Given the description of an element on the screen output the (x, y) to click on. 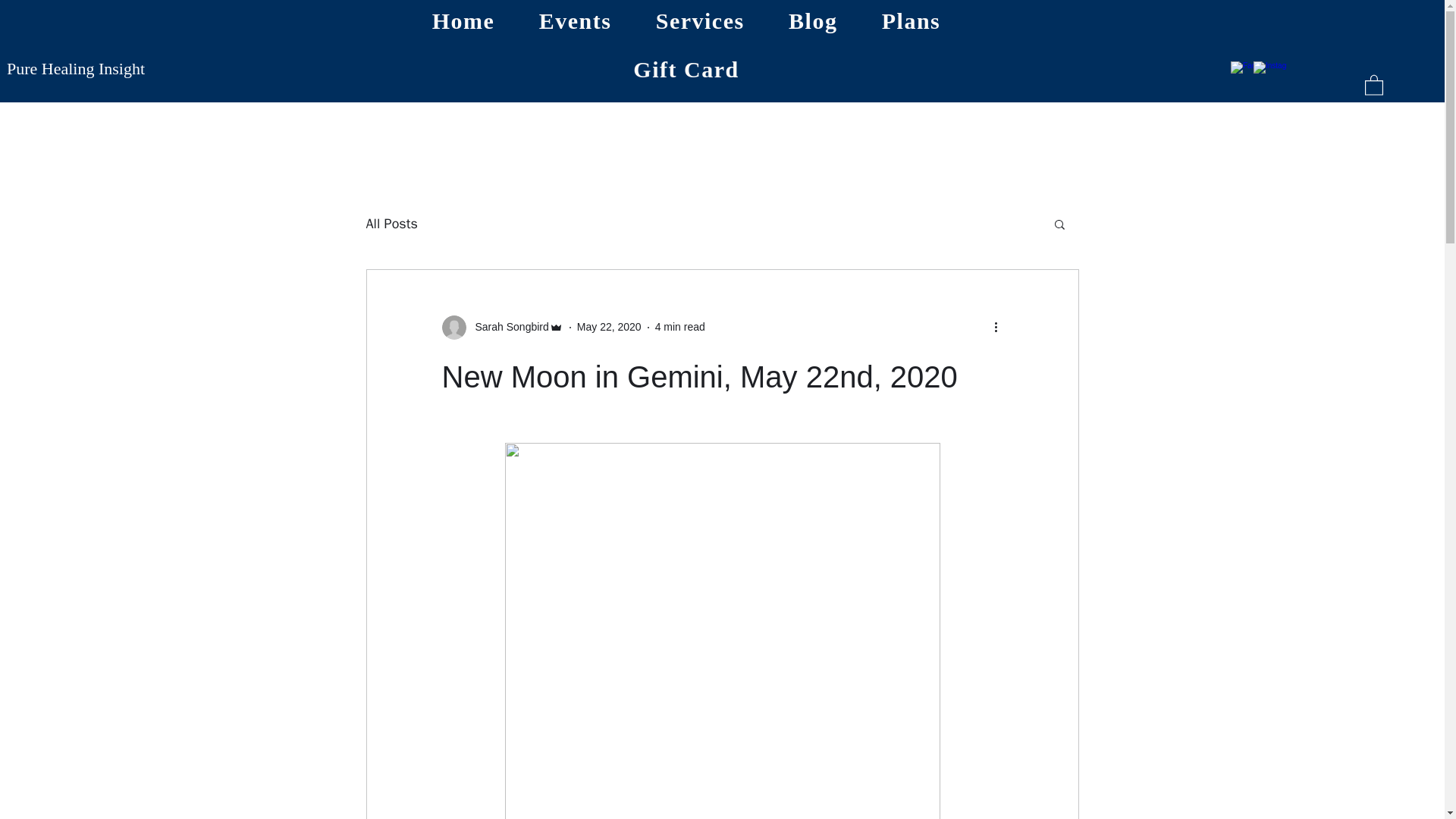
Log In (1100, 61)
Sarah Songbird (506, 326)
All Posts (390, 223)
Events (574, 21)
Blog (813, 21)
Gift Card (685, 69)
4 min read (679, 326)
Sarah Songbird (501, 327)
May 22, 2020 (609, 326)
Services (699, 21)
